Given the description of an element on the screen output the (x, y) to click on. 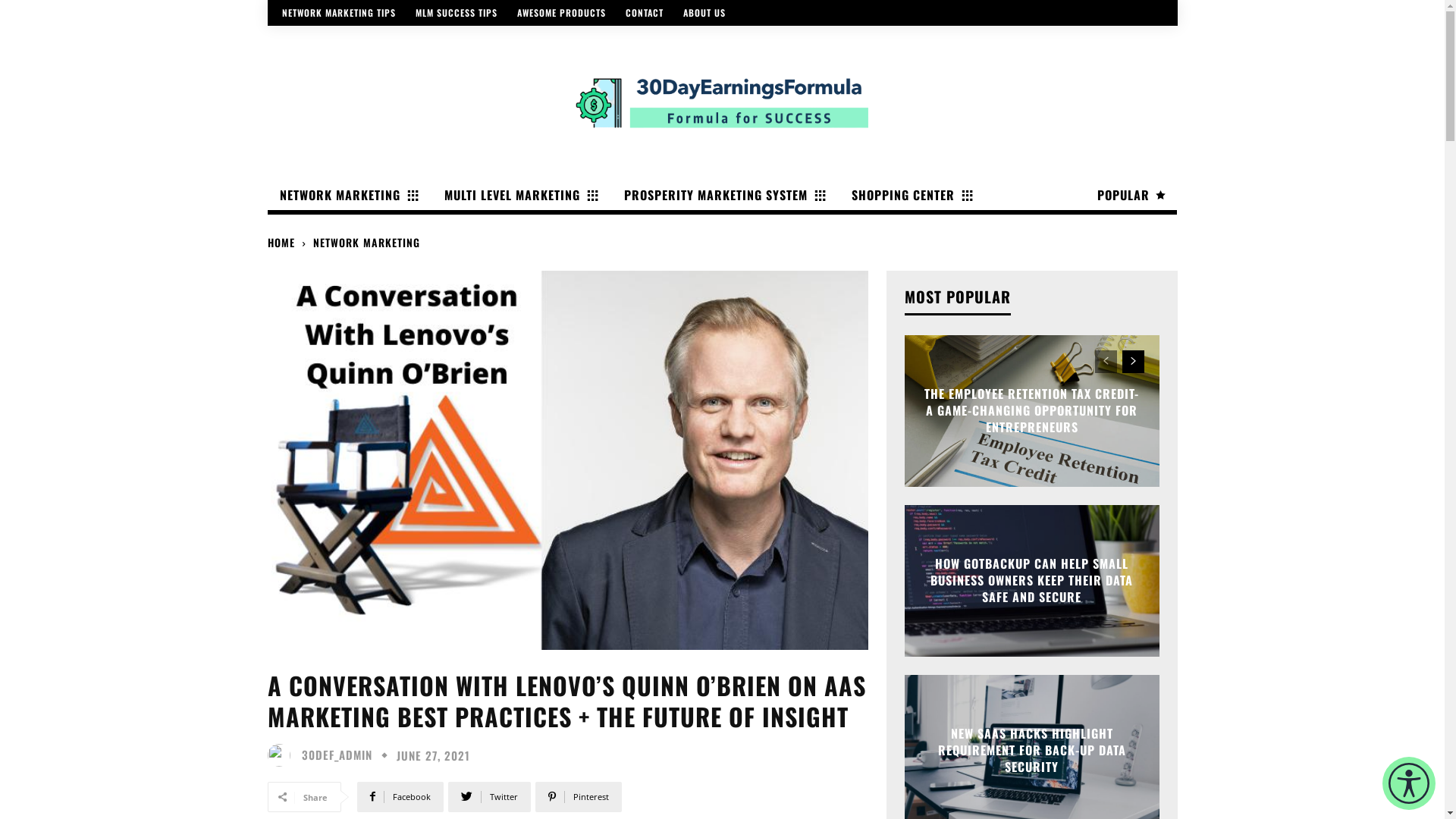
NETWORK MARKETING Element type: text (346, 194)
NETWORK MARKETING TIPS Element type: text (338, 12)
NETWORK MARKETING Element type: text (365, 242)
CONTACT Element type: text (643, 12)
MLM SUCCESS TIPS Element type: text (456, 12)
HOME Element type: text (280, 242)
AWESOME PRODUCTS Element type: text (561, 12)
PROSPERITY MARKETING SYSTEM Element type: text (722, 194)
ABOUT US Element type: text (703, 12)
SHOPPING CENTER Element type: text (910, 194)
30DEF_ADMIN Element type: text (336, 754)
Twitter Element type: text (488, 796)
POPULAR Element type: text (1130, 194)
MULTI LEVEL MARKETING Element type: text (520, 194)
Pinterest Element type: text (578, 796)
Facebook Element type: text (399, 796)
